Given the description of an element on the screen output the (x, y) to click on. 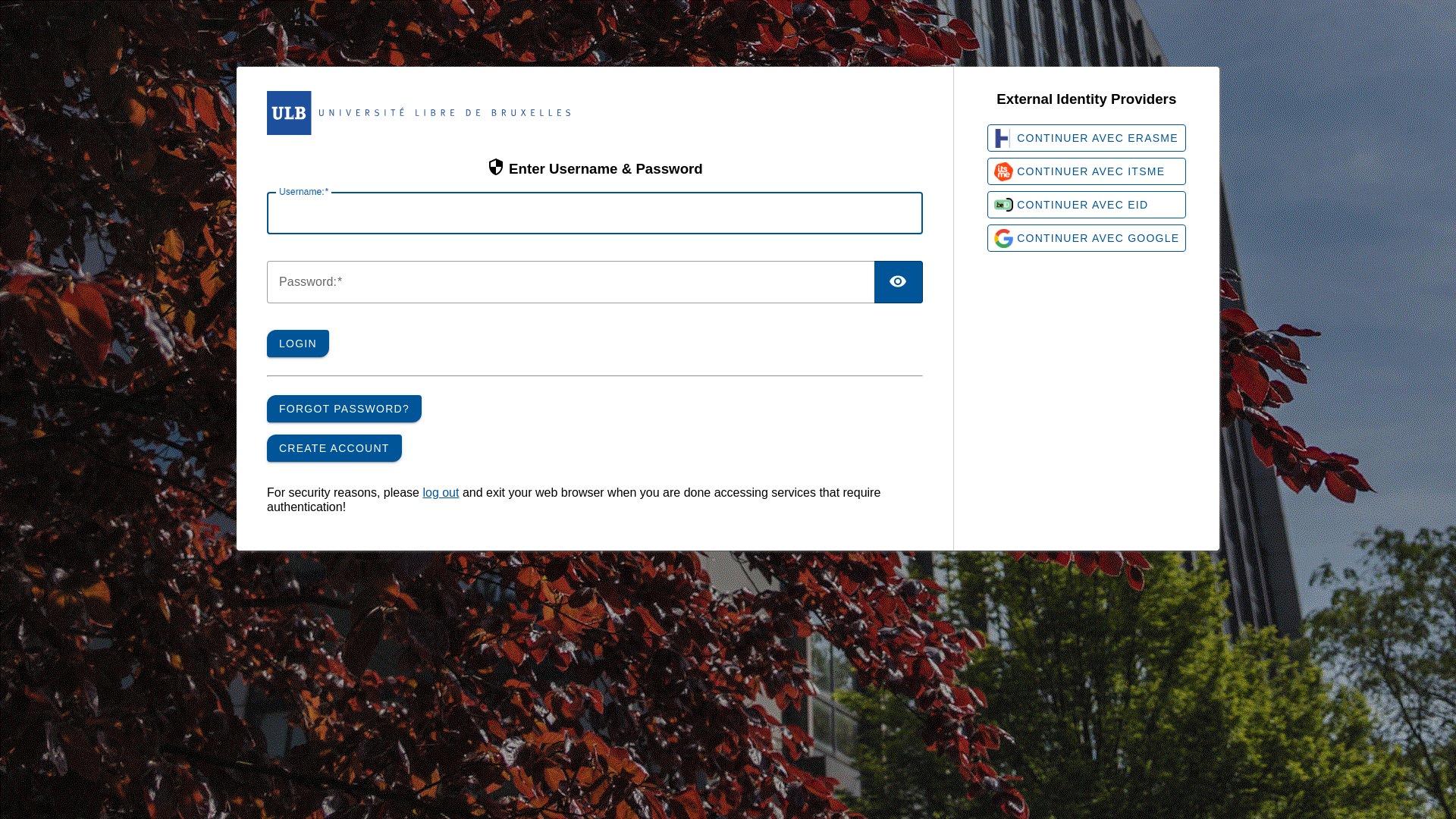
 CONTINUER AVEC ERASME Element type: text (1086, 137)
TOGGLE PASSWORD Element type: text (898, 281)
log out Element type: text (440, 492)
 CONTINUER AVEC ITSME Element type: text (1086, 171)
CREATE ACCOUNT Element type: text (333, 447)
FORGOT PASSWORD? Element type: text (343, 408)
LOGIN Element type: text (297, 343)
 CONTINUER AVEC EID Element type: text (1086, 204)
 CONTINUER AVEC GOOGLE Element type: text (1086, 237)
